Given the description of an element on the screen output the (x, y) to click on. 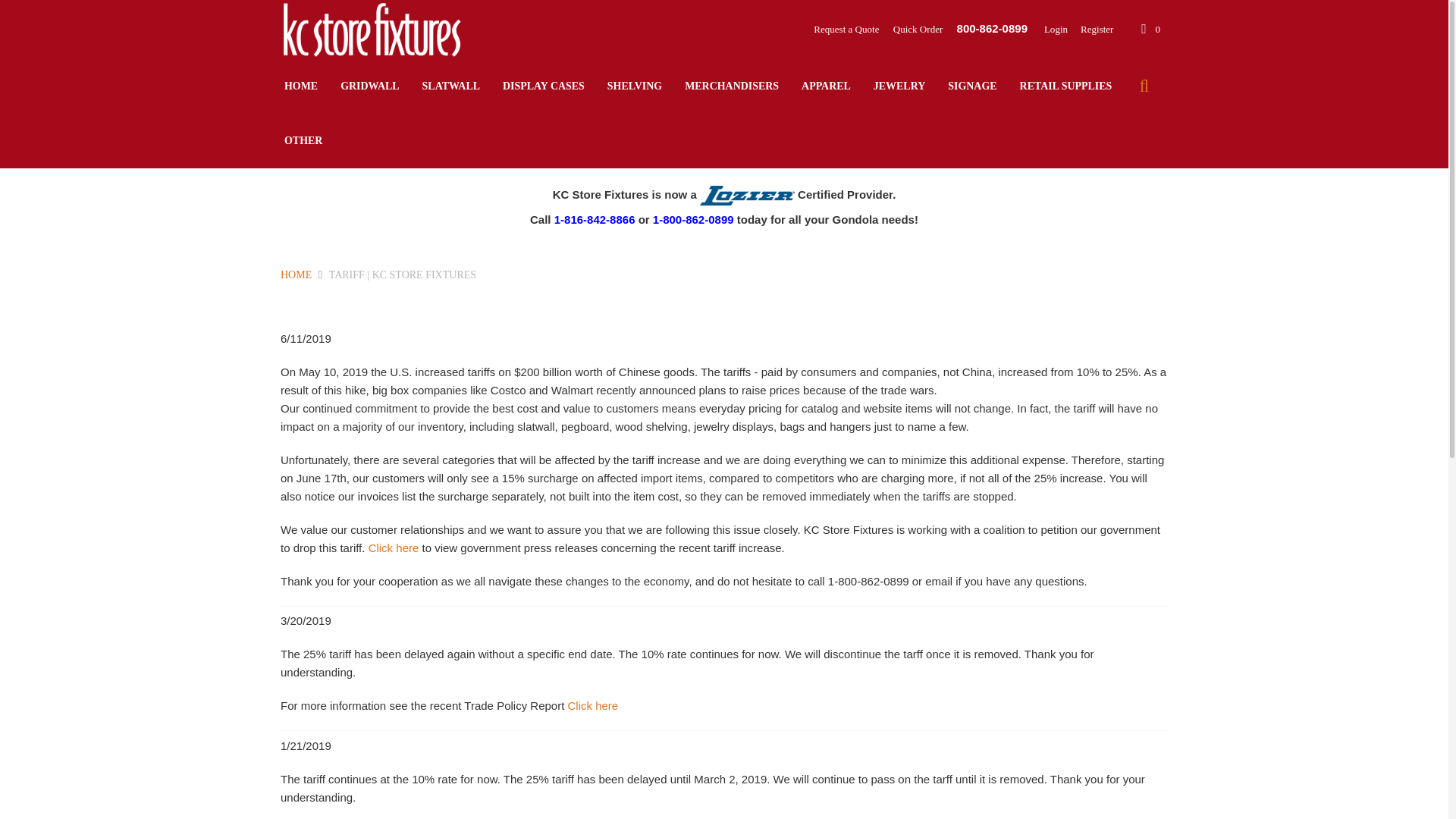
GRIDWALL (369, 85)
Quick Order (918, 29)
0 (1149, 29)
DISPLAY CASES (543, 85)
800-862-0899 (991, 28)
Trade Policy Report (592, 705)
Quick Order (918, 29)
Register (1090, 29)
SLATWALL (451, 85)
Cart (1149, 29)
USTR Finalizes Tariffs (393, 547)
Request a Quote (847, 29)
KC Store Fixtures (372, 29)
Login (1049, 29)
Request a Quote (847, 29)
